Given the description of an element on the screen output the (x, y) to click on. 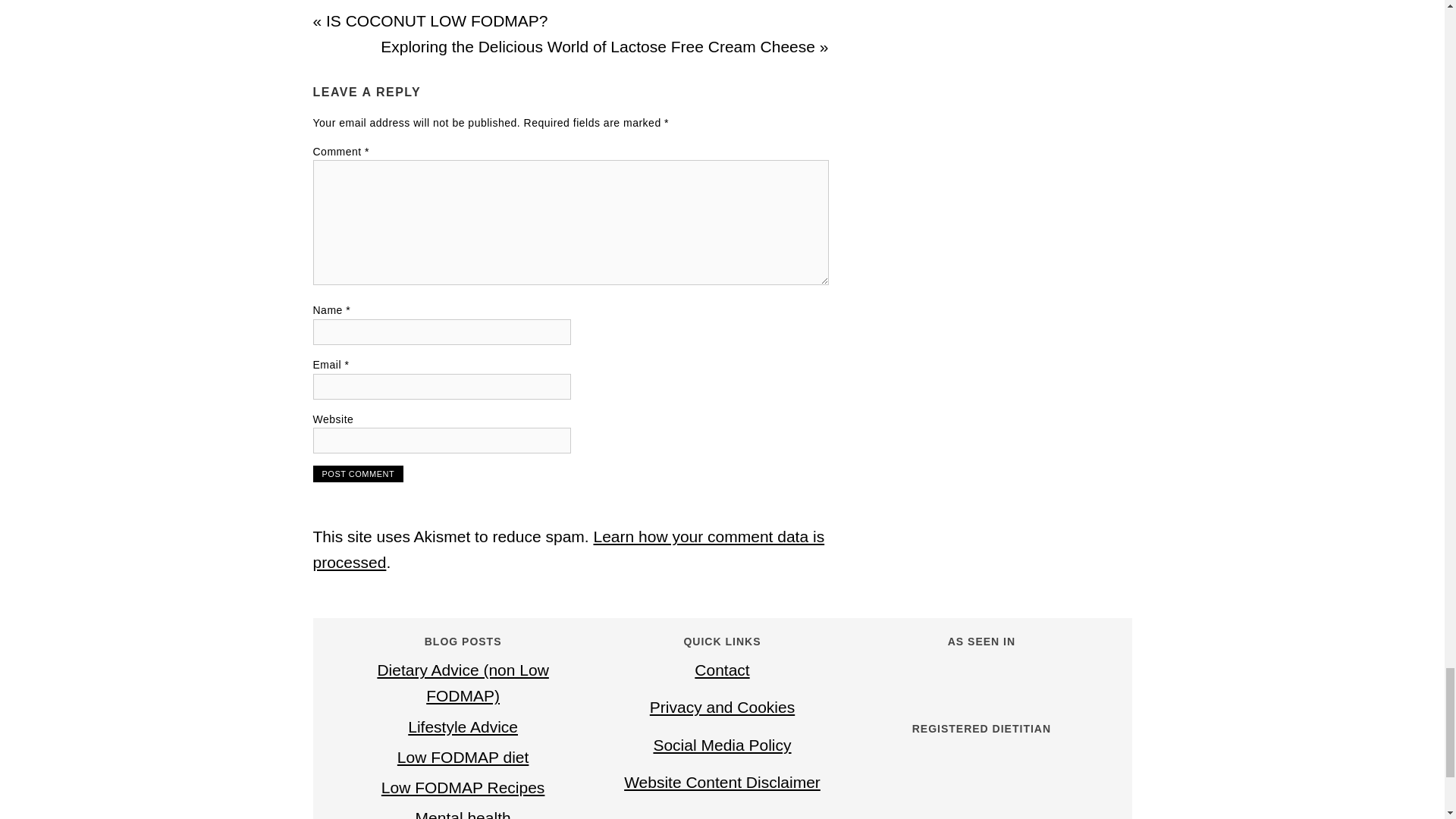
Post Comment (358, 474)
